Given the description of an element on the screen output the (x, y) to click on. 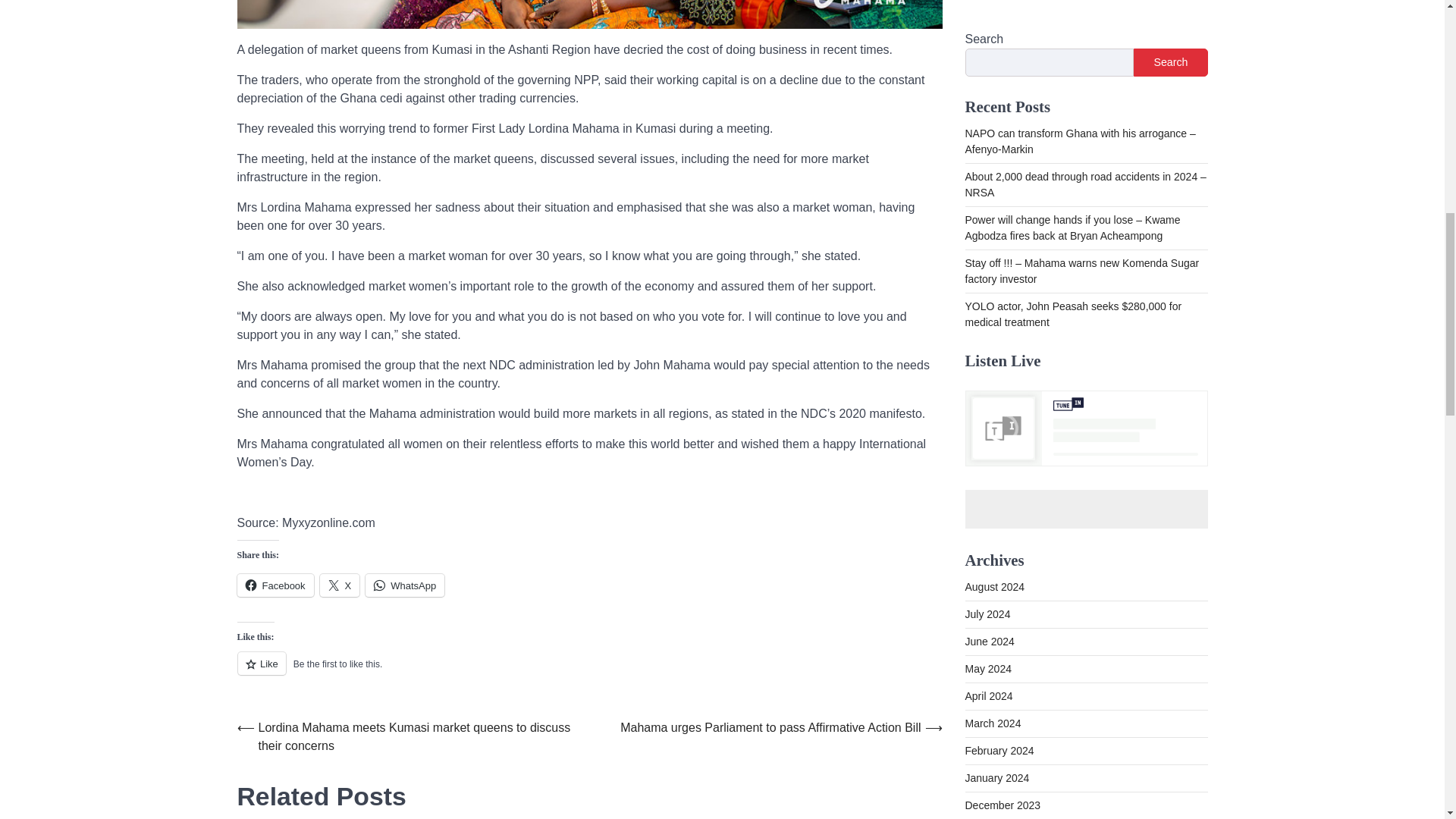
X (339, 585)
Click to share on X (339, 585)
Like or Reblog (588, 671)
Click to share on Facebook (274, 585)
WhatsApp (404, 585)
Click to share on WhatsApp (404, 585)
Facebook (274, 585)
